Given the description of an element on the screen output the (x, y) to click on. 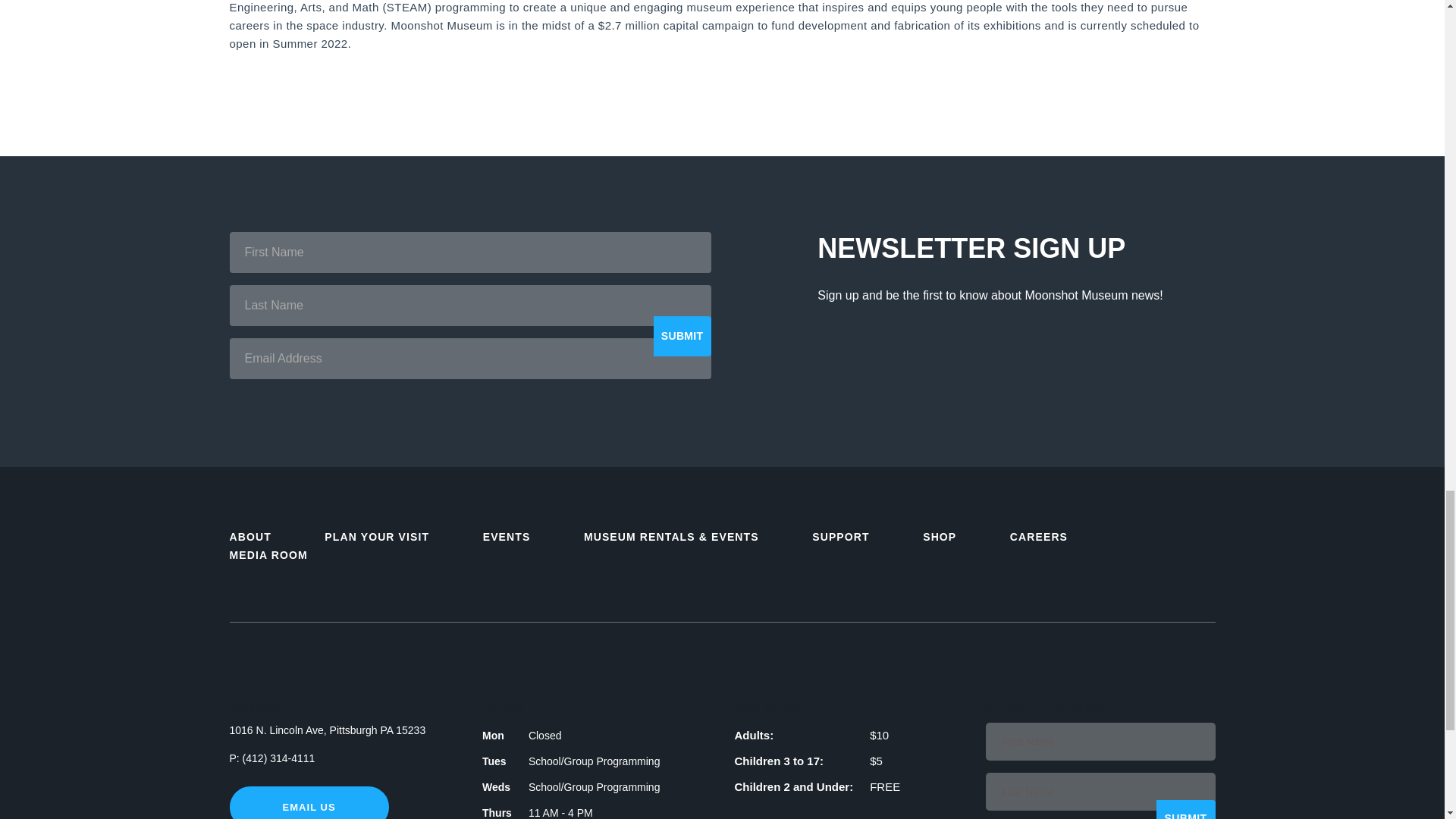
Submit (1185, 809)
Submit (682, 336)
